Given the description of an element on the screen output the (x, y) to click on. 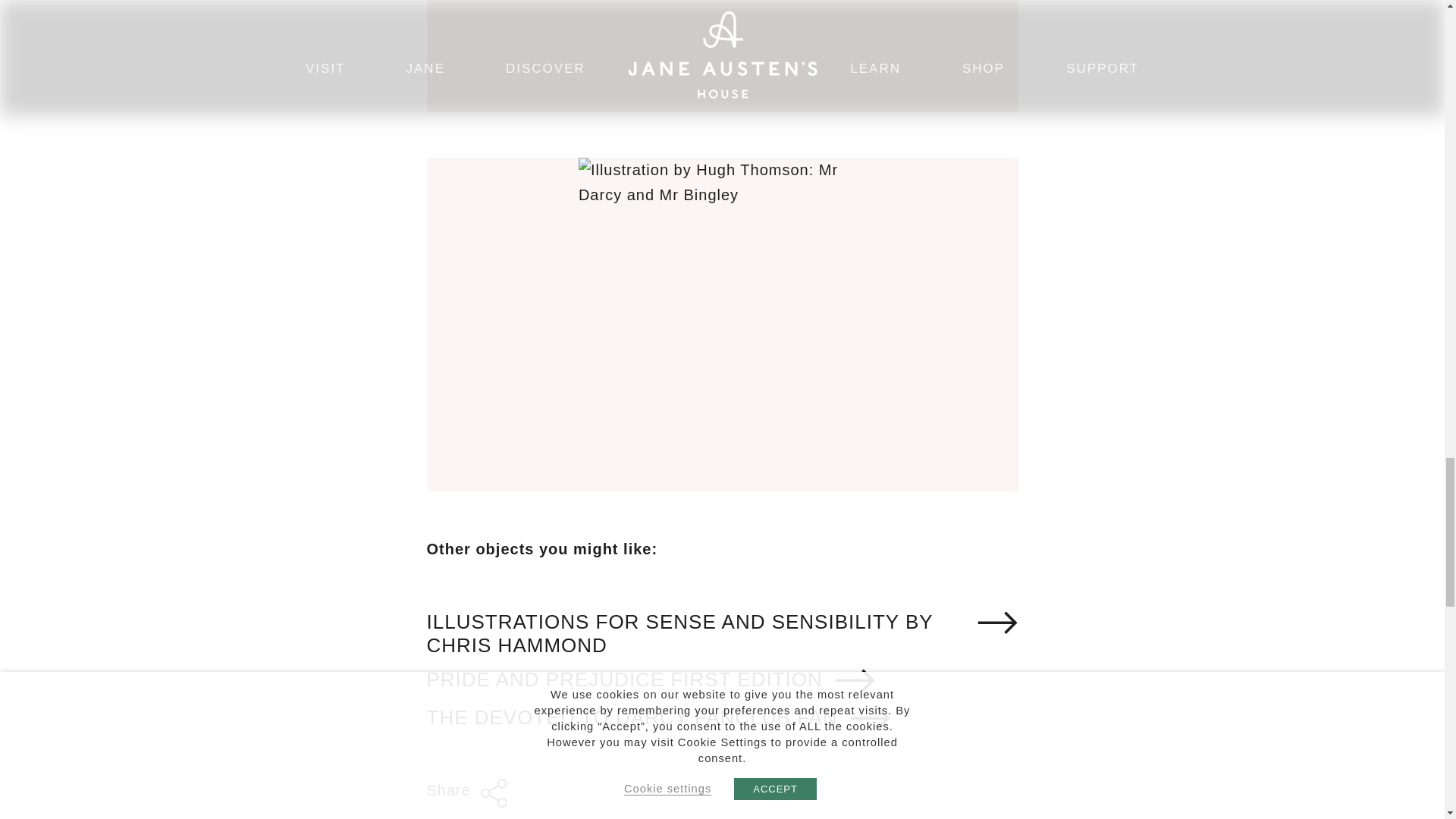
ILLUSTRATIONS FOR SENSE AND SENSIBILITY BY CHRIS HAMMOND (721, 632)
PRIDE AND PREJUDICE FIRST EDITION (650, 680)
THE DEVOTED TO DARCY FANCLUB FAN (657, 717)
